Given the description of an element on the screen output the (x, y) to click on. 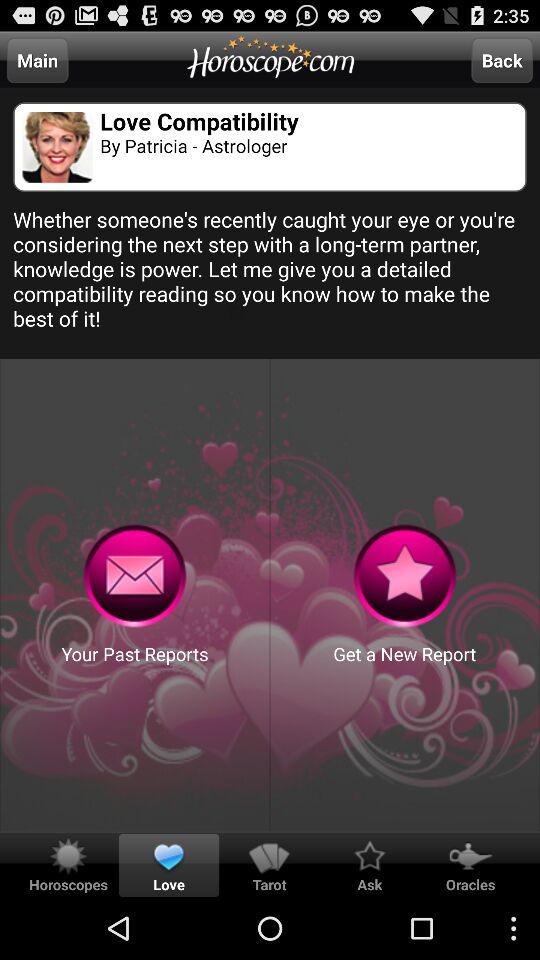
view recieved past reports (134, 575)
